Given the description of an element on the screen output the (x, y) to click on. 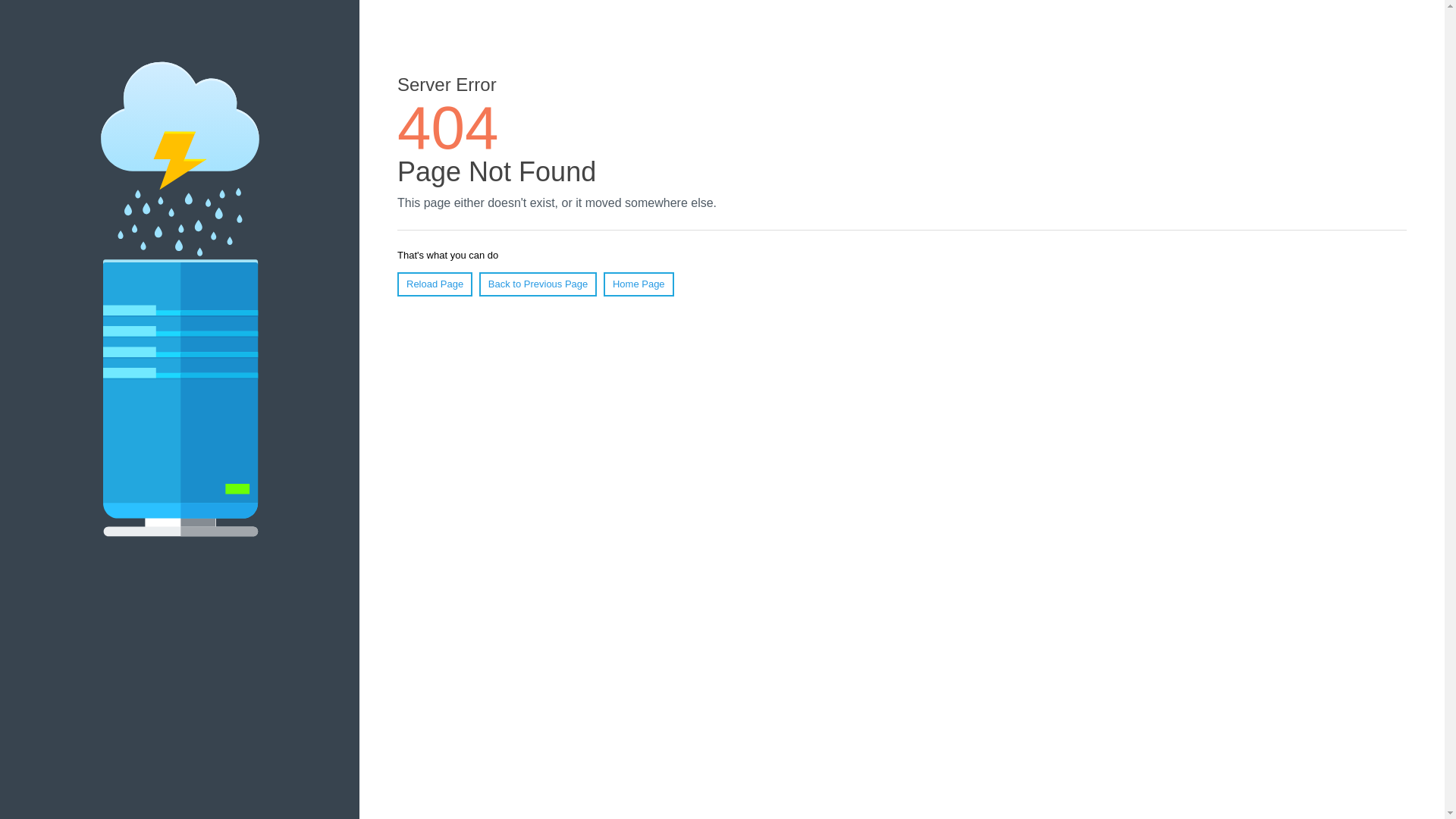
Back to Previous Page Element type: text (538, 284)
Home Page Element type: text (638, 284)
Reload Page Element type: text (434, 284)
